Given the description of an element on the screen output the (x, y) to click on. 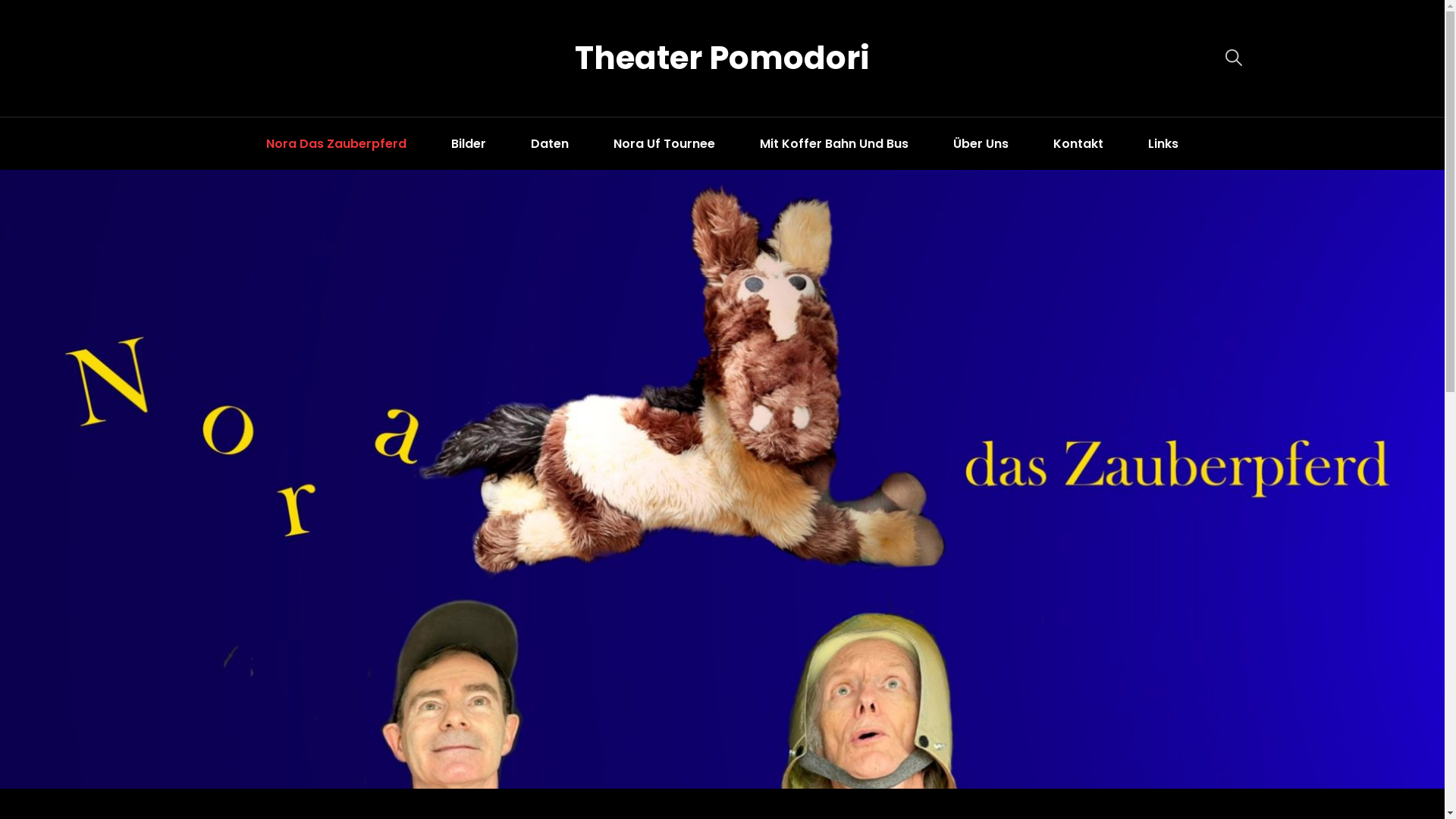
Mit Koffer Bahn Und Bus Element type: text (833, 143)
Kontakt Element type: text (1077, 143)
Nora Uf Tournee Element type: text (664, 143)
Nora Das Zauberpferd Element type: text (335, 143)
Links Element type: text (1162, 143)
Bilder Element type: text (468, 143)
Daten Element type: text (549, 143)
Theater Pomodori Element type: text (721, 57)
